Given the description of an element on the screen output the (x, y) to click on. 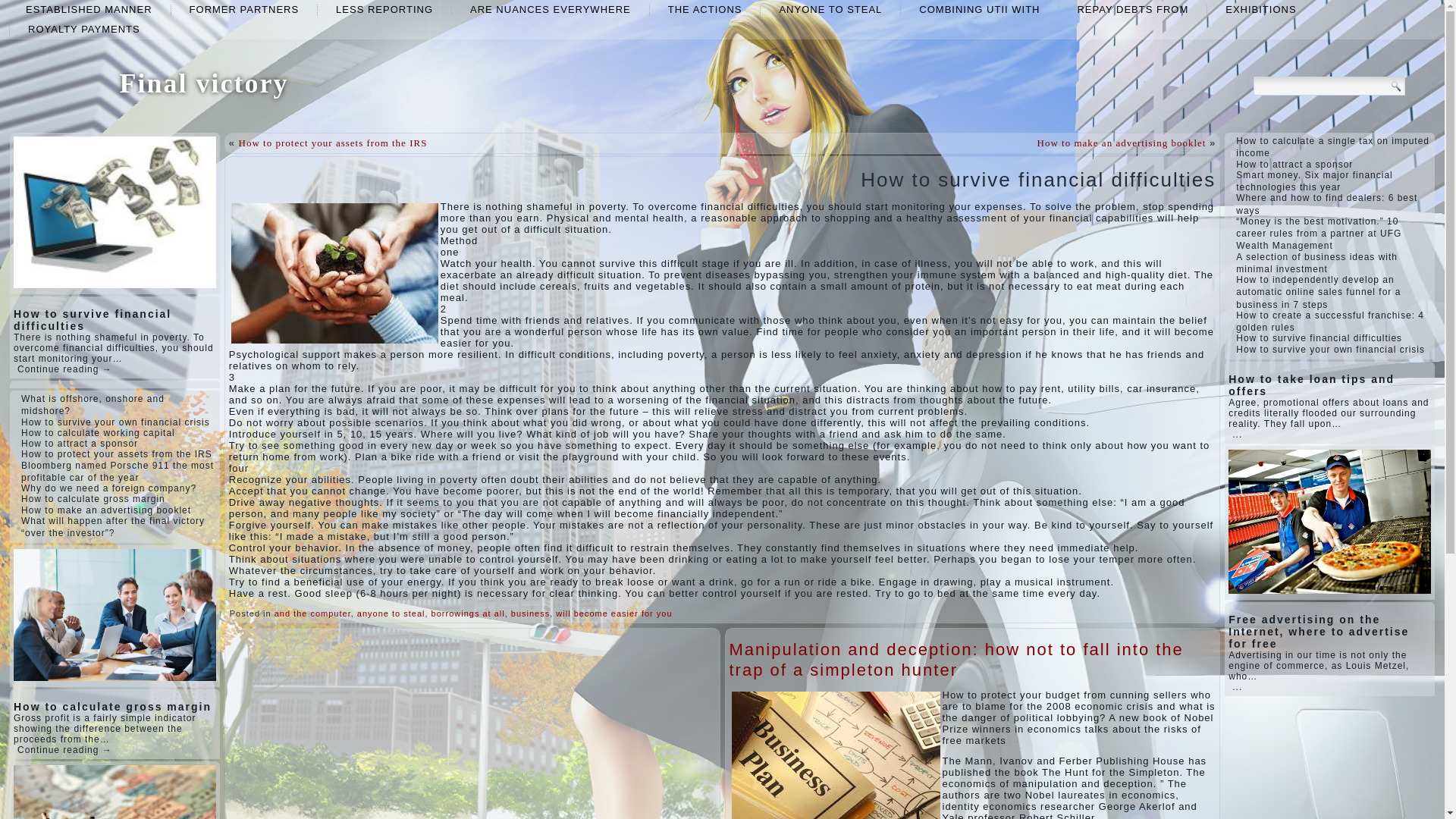
How to calculate a single tax on imputed income (1332, 146)
ARE NUANCES EVERYWHERE (549, 9)
combining UTII with (979, 9)
How to protect your assets from the IRS (116, 453)
anyone to steal (829, 9)
How to make an advertising booklet (105, 510)
What is offshore, onshore and midshore? (92, 404)
How to calculate gross margin (93, 498)
royalty payments (84, 29)
exhibitions (1260, 9)
borrowings at all (467, 613)
What is offshore, onshore and midshore? (92, 404)
Final victory (203, 82)
